Given the description of an element on the screen output the (x, y) to click on. 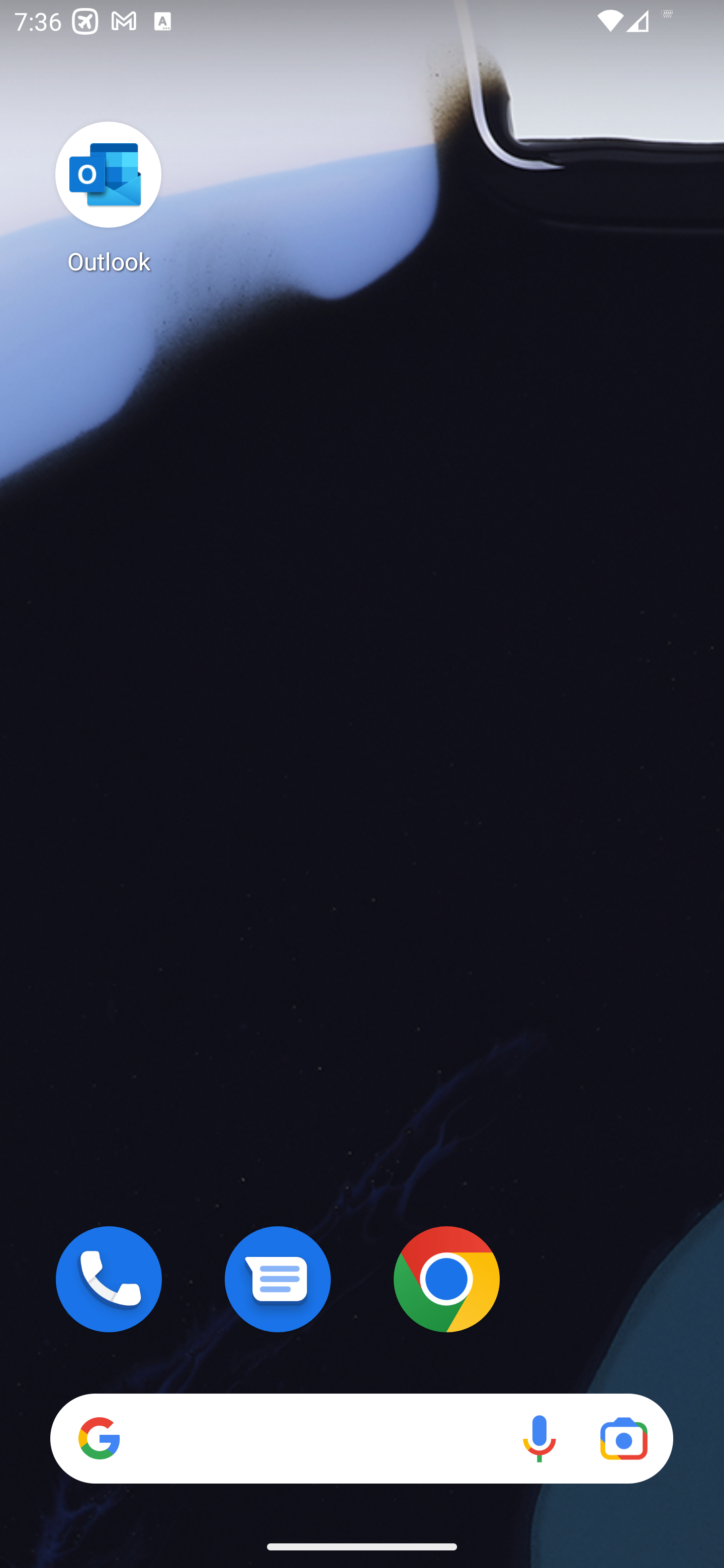
Outlook (108, 196)
Phone (108, 1279)
Messages (277, 1279)
Chrome (446, 1279)
Voice search (539, 1438)
Google Lens (623, 1438)
